Given the description of an element on the screen output the (x, y) to click on. 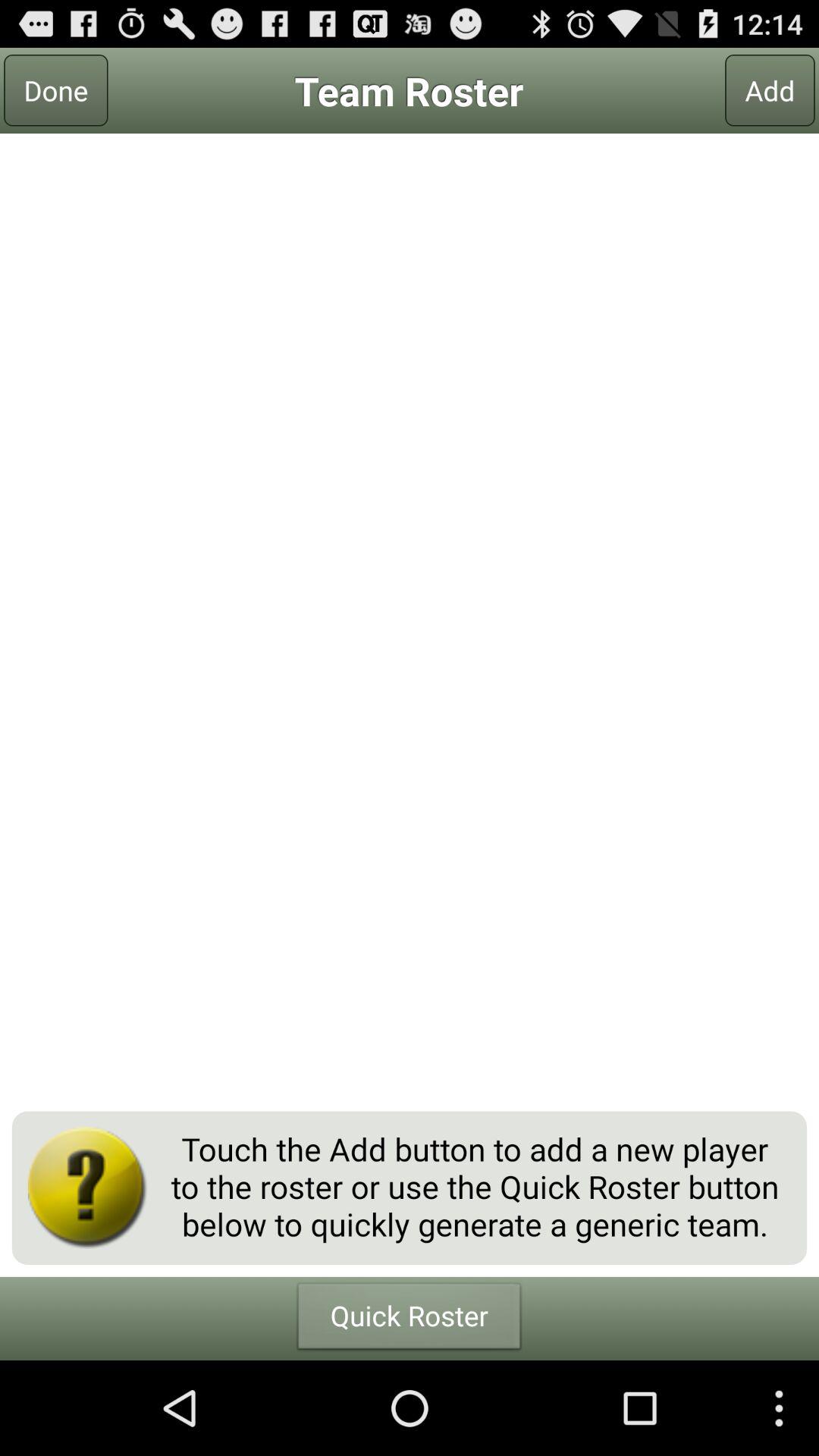
click done button (55, 90)
